Given the description of an element on the screen output the (x, y) to click on. 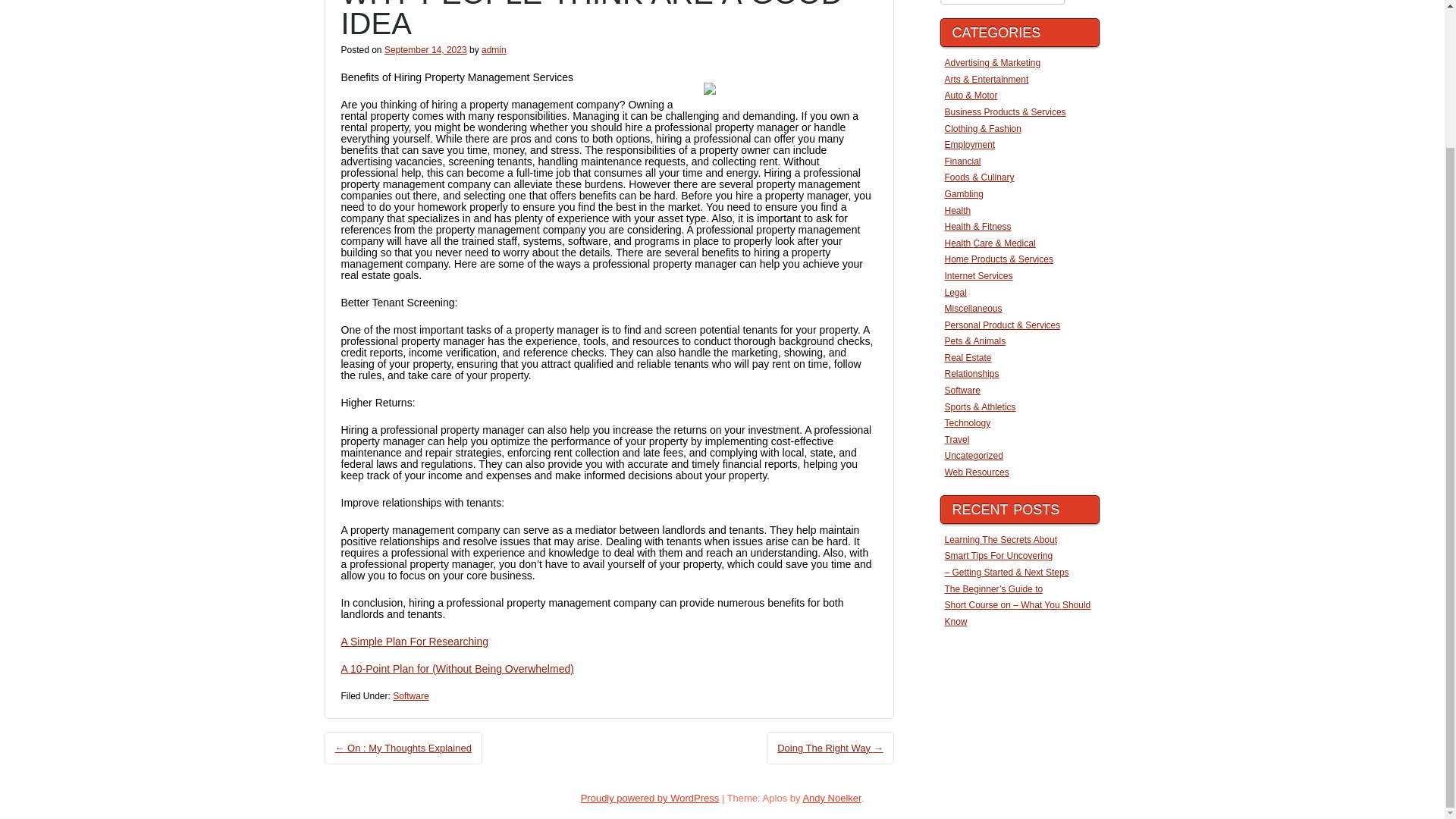
Legal (955, 291)
Health (957, 210)
Gambling (964, 194)
Uncategorized (973, 455)
A Semantic Personal Publishing Platform (649, 797)
September 14, 2023 (425, 50)
Financial (962, 161)
Internet Services (978, 276)
admin (493, 50)
Real Estate (967, 357)
